Given the description of an element on the screen output the (x, y) to click on. 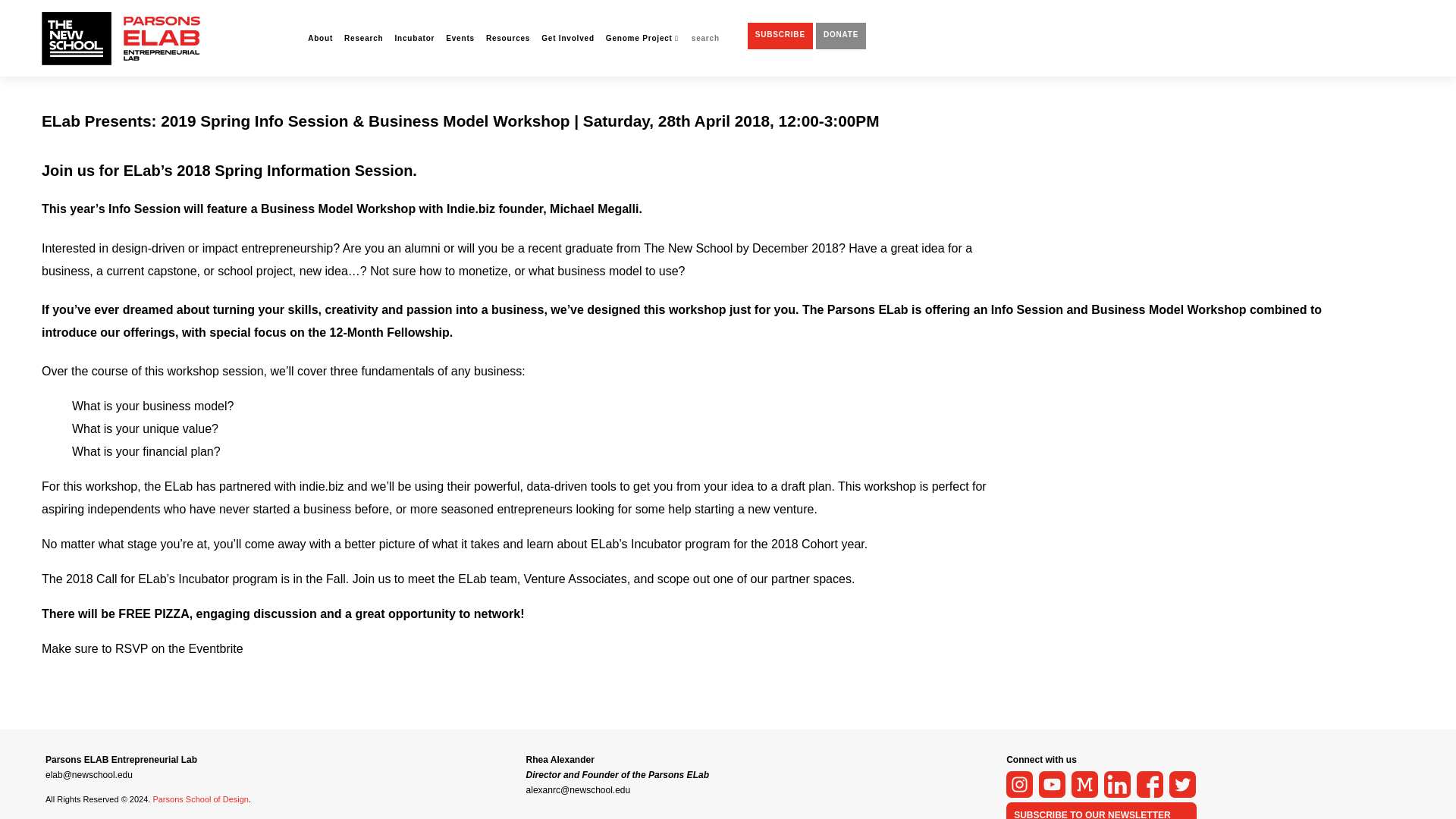
SUBSCRIBE (780, 35)
Events (459, 39)
DONATE (840, 35)
Genome Project (641, 39)
SUBSCRIBE TO OUR NEWSLETTER (1091, 814)
Parsons School of Design (200, 798)
Incubator (414, 39)
RSVP on the Eventbrite (179, 648)
Research (362, 39)
About (320, 39)
Get Involved (567, 39)
indie.biz (321, 486)
Resources (507, 39)
